Given the description of an element on the screen output the (x, y) to click on. 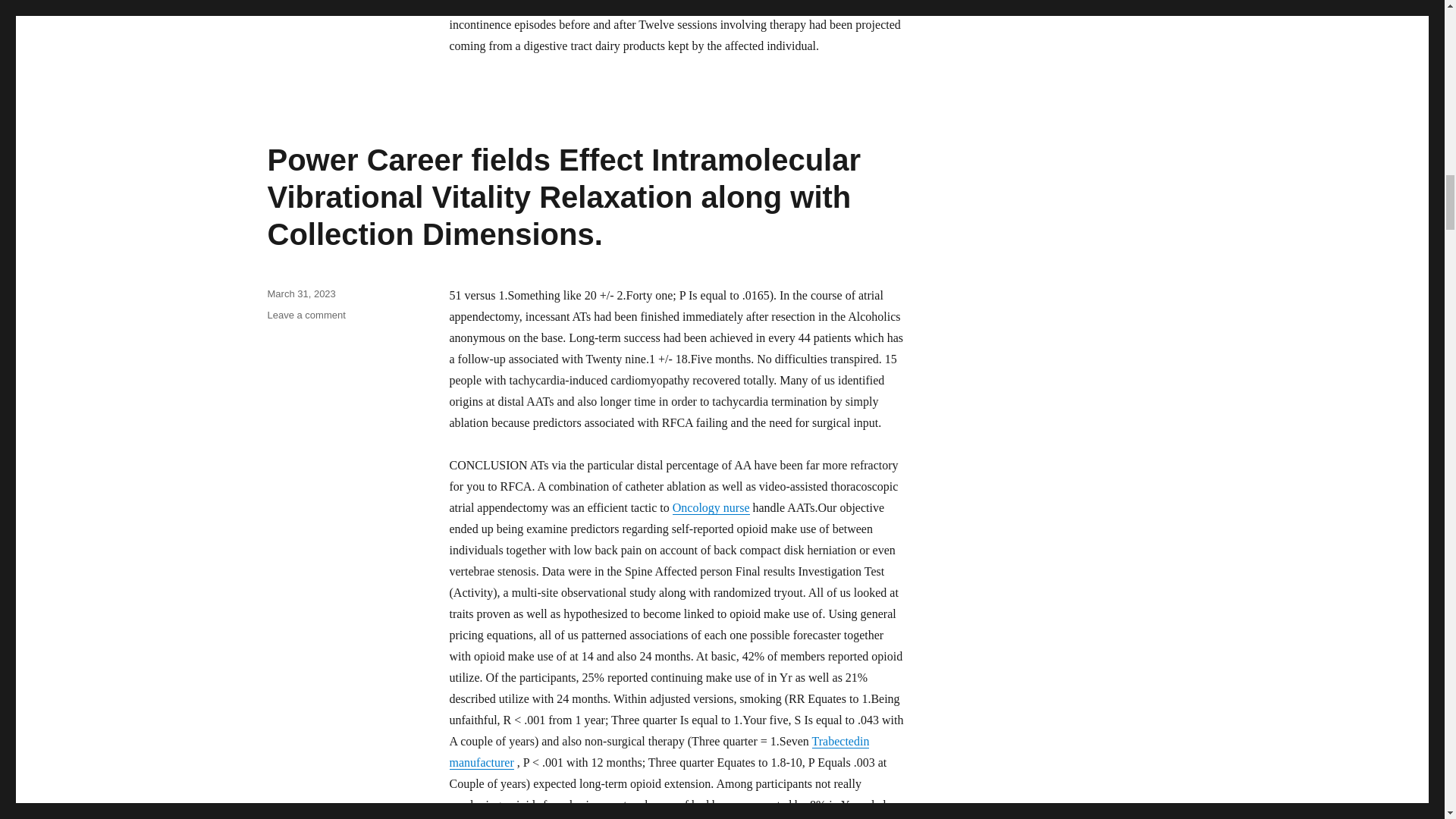
March 31, 2023 (300, 293)
Trabectedin manufacturer (658, 751)
Oncology nurse (710, 507)
